Given the description of an element on the screen output the (x, y) to click on. 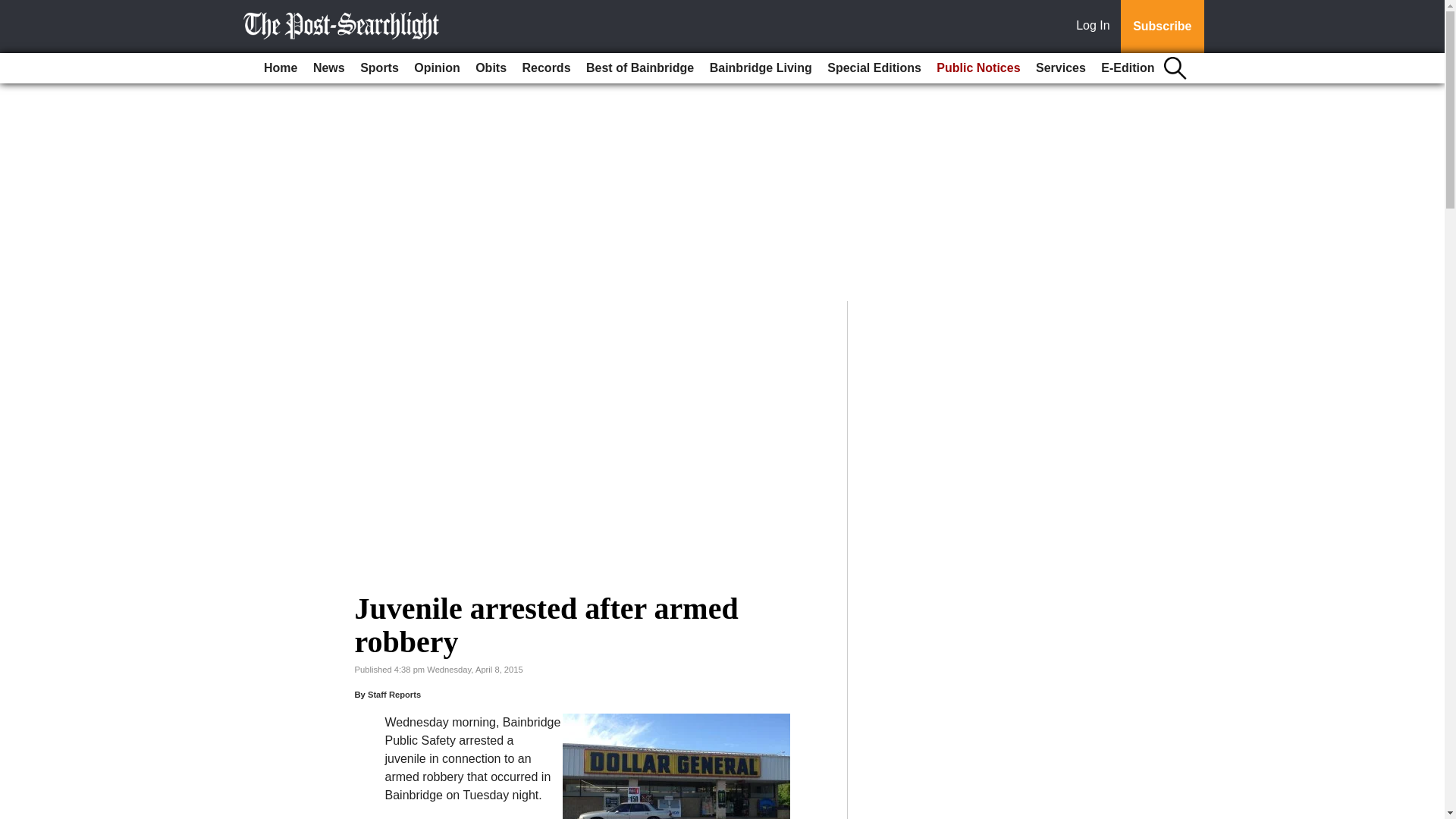
Go (13, 9)
Log In (1095, 26)
E-Edition (1127, 68)
Subscribe (1162, 26)
Best of Bainbridge (639, 68)
Opinion (436, 68)
Public Notices (978, 68)
Records (546, 68)
Staff Reports (394, 694)
Special Editions (874, 68)
Obits (490, 68)
Services (1060, 68)
News (328, 68)
Bainbridge Living (760, 68)
Home (279, 68)
